Given the description of an element on the screen output the (x, y) to click on. 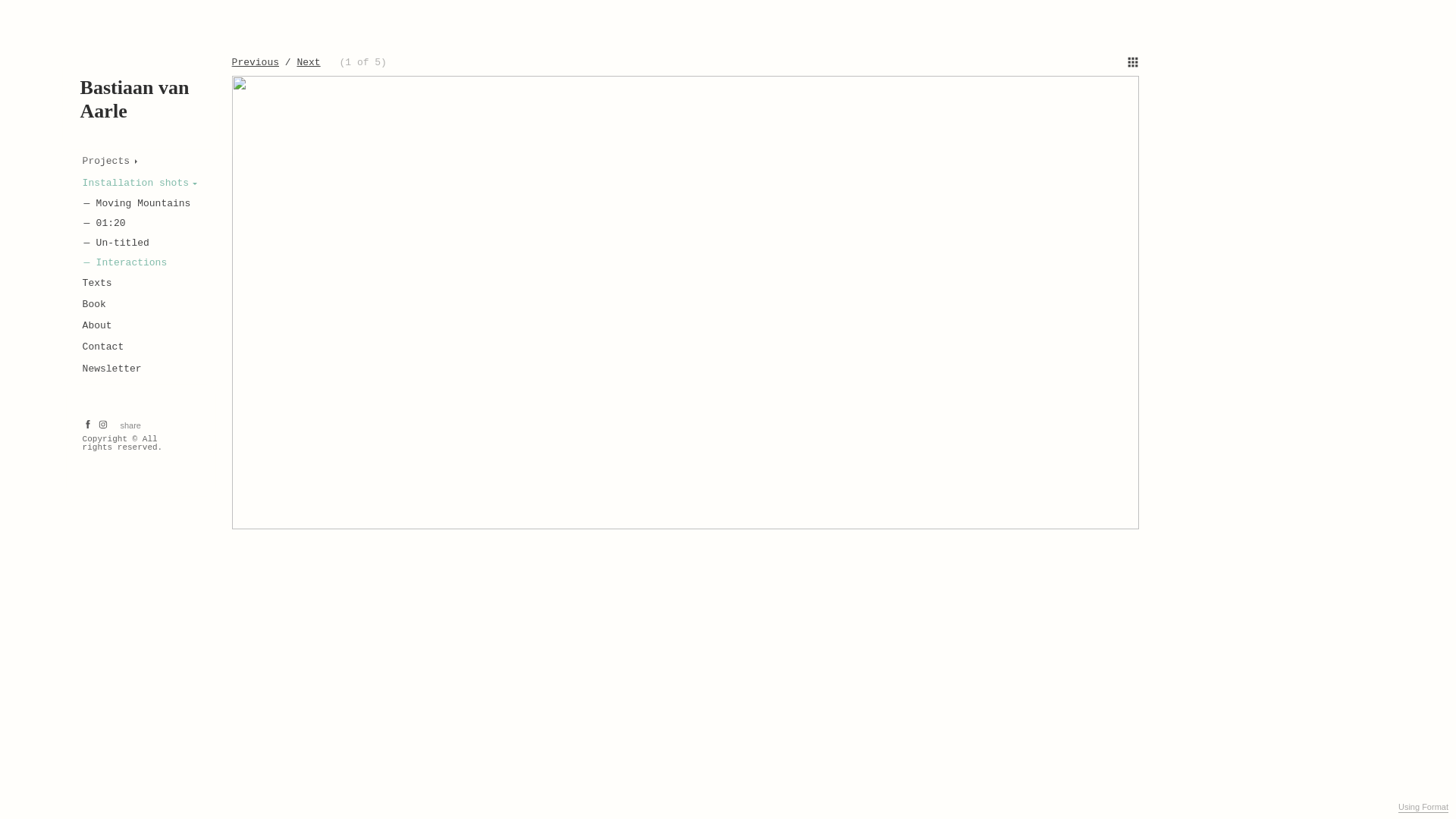
Contact Element type: text (104, 346)
share Element type: text (130, 425)
Projects Element type: text (109, 161)
Next Element type: text (308, 62)
Texts Element type: text (98, 283)
Installation shots Element type: text (138, 183)
Previous Element type: text (255, 62)
About Element type: text (98, 325)
Newsletter Element type: text (112, 368)
Book Element type: text (94, 304)
Using Format Element type: text (1423, 807)
Bastiaan van Aarle Element type: text (134, 99)
